Given the description of an element on the screen output the (x, y) to click on. 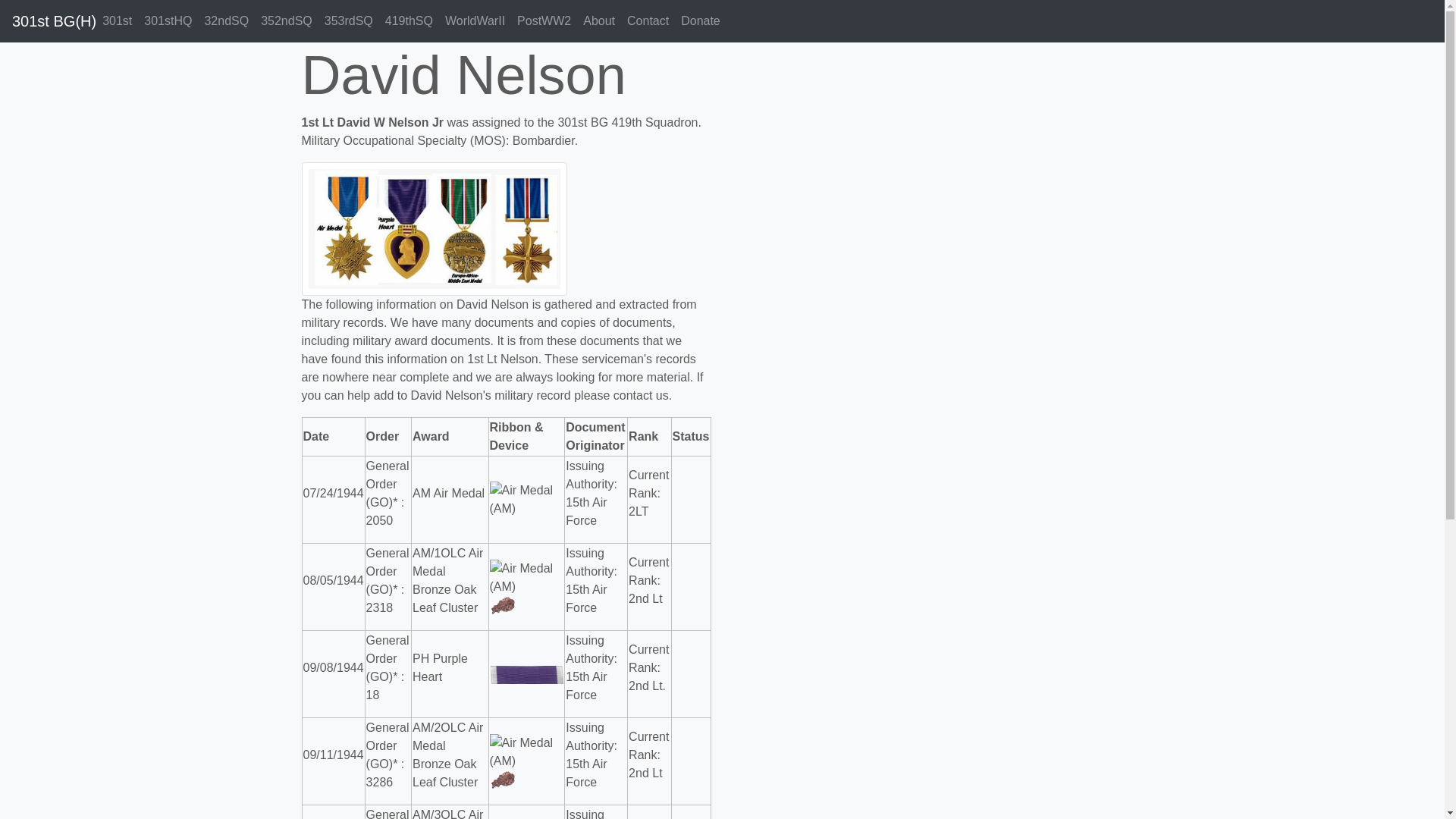
301st BG(H) Element type: text (54, 21)
32ndSQ Element type: text (225, 21)
WorldWarII Element type: text (475, 21)
301stHQ Element type: text (167, 21)
Contact Element type: text (647, 21)
353rdSQ Element type: text (348, 21)
352ndSQ Element type: text (286, 21)
PostWW2 Element type: text (544, 21)
419thSQ Element type: text (409, 21)
About Element type: text (599, 21)
Donate Element type: text (700, 21)
301st Element type: text (117, 21)
